Given the description of an element on the screen output the (x, y) to click on. 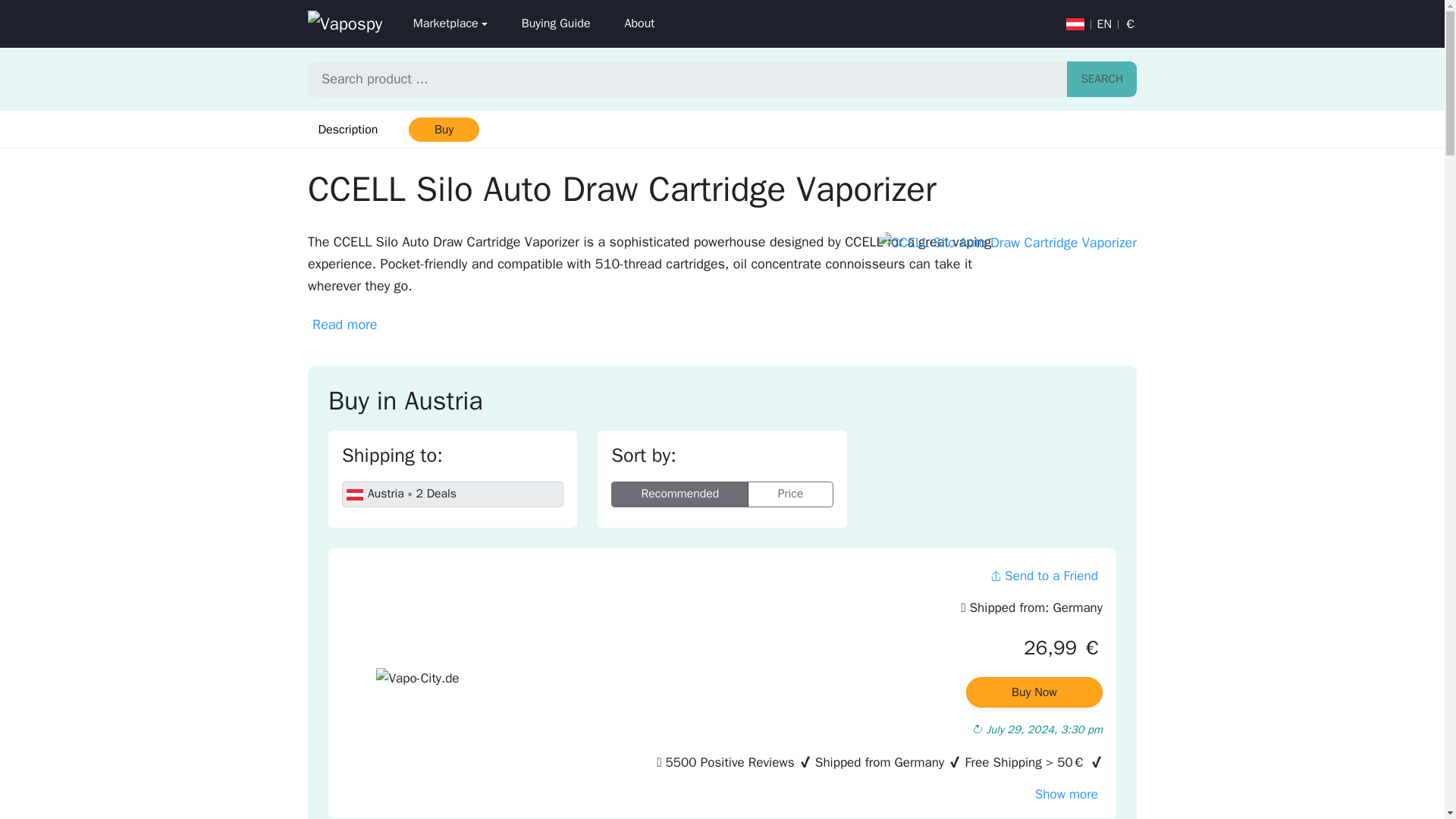
Marketplace (449, 23)
Shipping to: Austria (452, 494)
Read more (344, 325)
Description (347, 129)
Price (790, 494)
Vapo-City.de (416, 686)
Send to a Friend (1043, 575)
Recommended (679, 494)
SEARCH (1102, 79)
Show more (1066, 794)
Buy Now (1034, 692)
About (639, 23)
Buying Guide (555, 23)
Buy (443, 129)
